Given the description of an element on the screen output the (x, y) to click on. 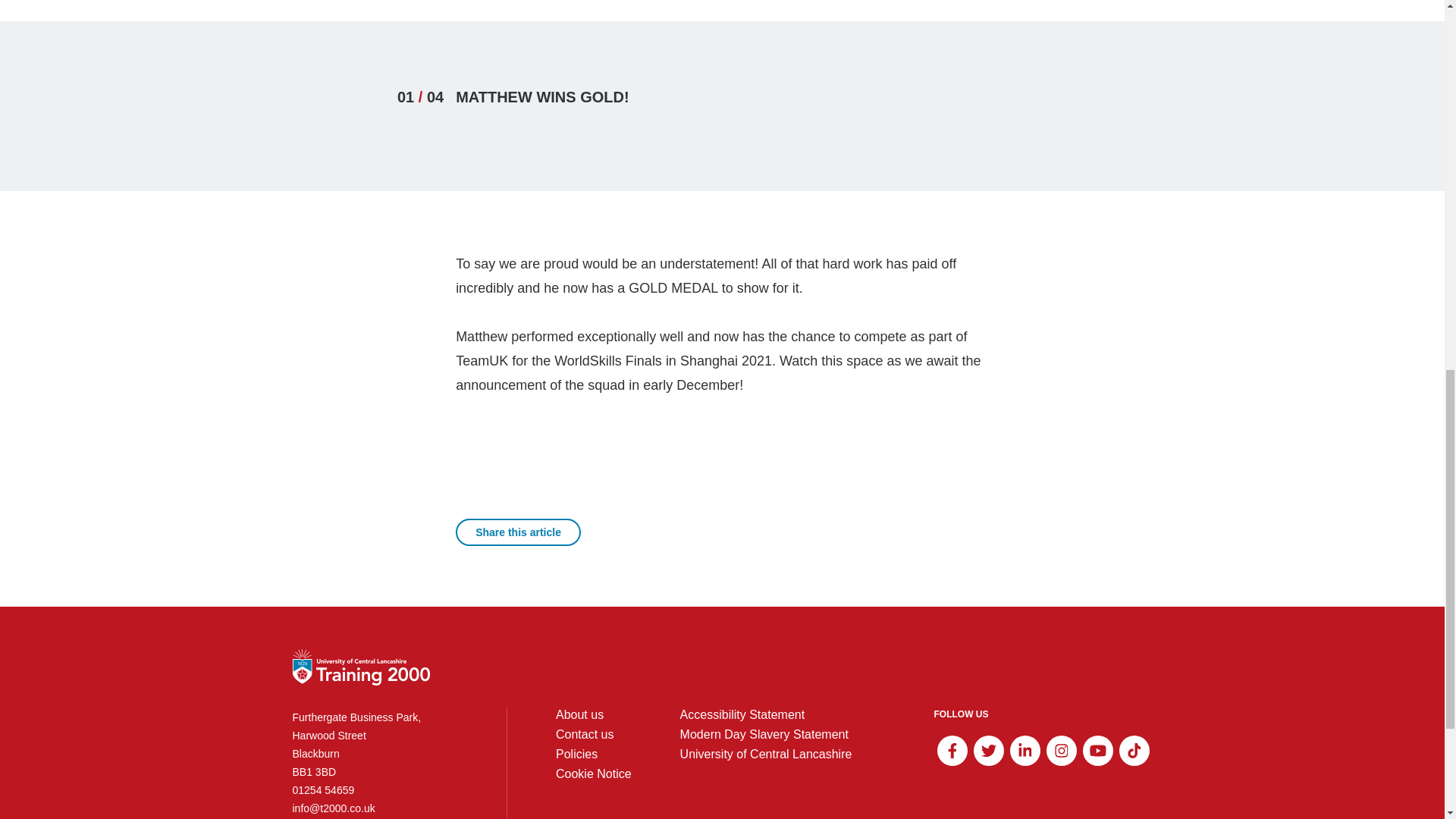
University of Central Lancashire (765, 753)
About us (580, 714)
Share this article (517, 532)
01254 54659 (375, 790)
Cookie Notice (593, 773)
Modern Day Slavery Statement (763, 734)
Policies (576, 753)
Accessibility Statement (742, 714)
Contact us (584, 734)
